Given the description of an element on the screen output the (x, y) to click on. 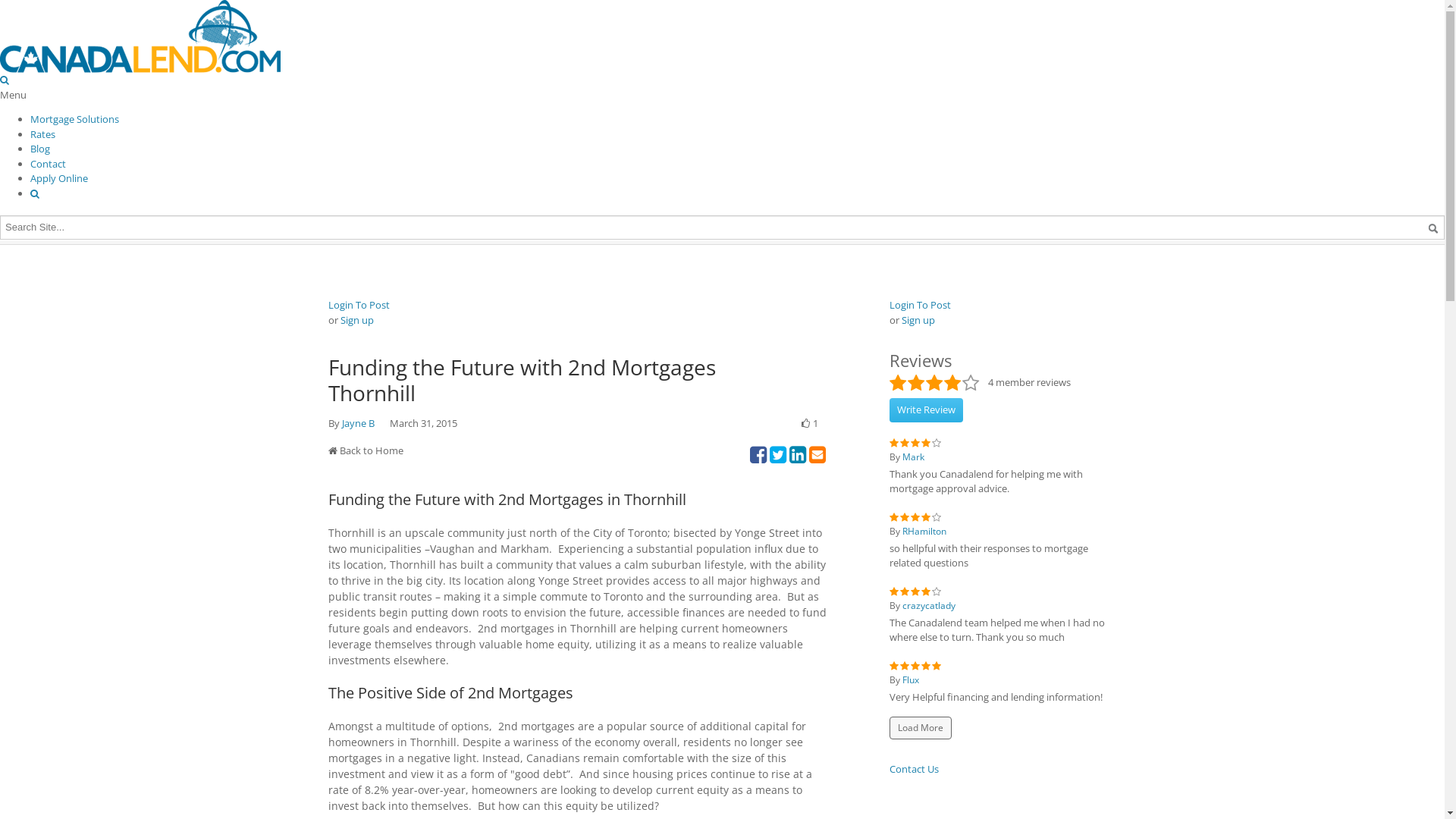
crazycatlady Element type: text (928, 605)
Mark Element type: text (913, 456)
Contact Us Element type: text (913, 768)
Login To Post Element type: text (358, 304)
1 Element type: text (809, 423)
Mortgage Solutions Element type: text (74, 118)
Flux Element type: text (910, 679)
Apply Online Element type: text (58, 178)
Tell a Friend Element type: hover (816, 454)
Share on Twitter Element type: hover (776, 454)
Blog Element type: text (40, 148)
RHamilton Element type: text (924, 530)
Login To Post Element type: text (919, 304)
Write Review Element type: text (925, 410)
Contact Element type: text (47, 162)
Load More Element type: text (919, 727)
Share on Facebook Element type: hover (757, 454)
Rates Element type: text (42, 134)
Share on LinkedIn Element type: hover (796, 454)
Back to Home Element type: text (371, 450)
Jayne B Element type: text (357, 422)
Sign up Element type: text (356, 319)
Sign up Element type: text (917, 319)
